Given the description of an element on the screen output the (x, y) to click on. 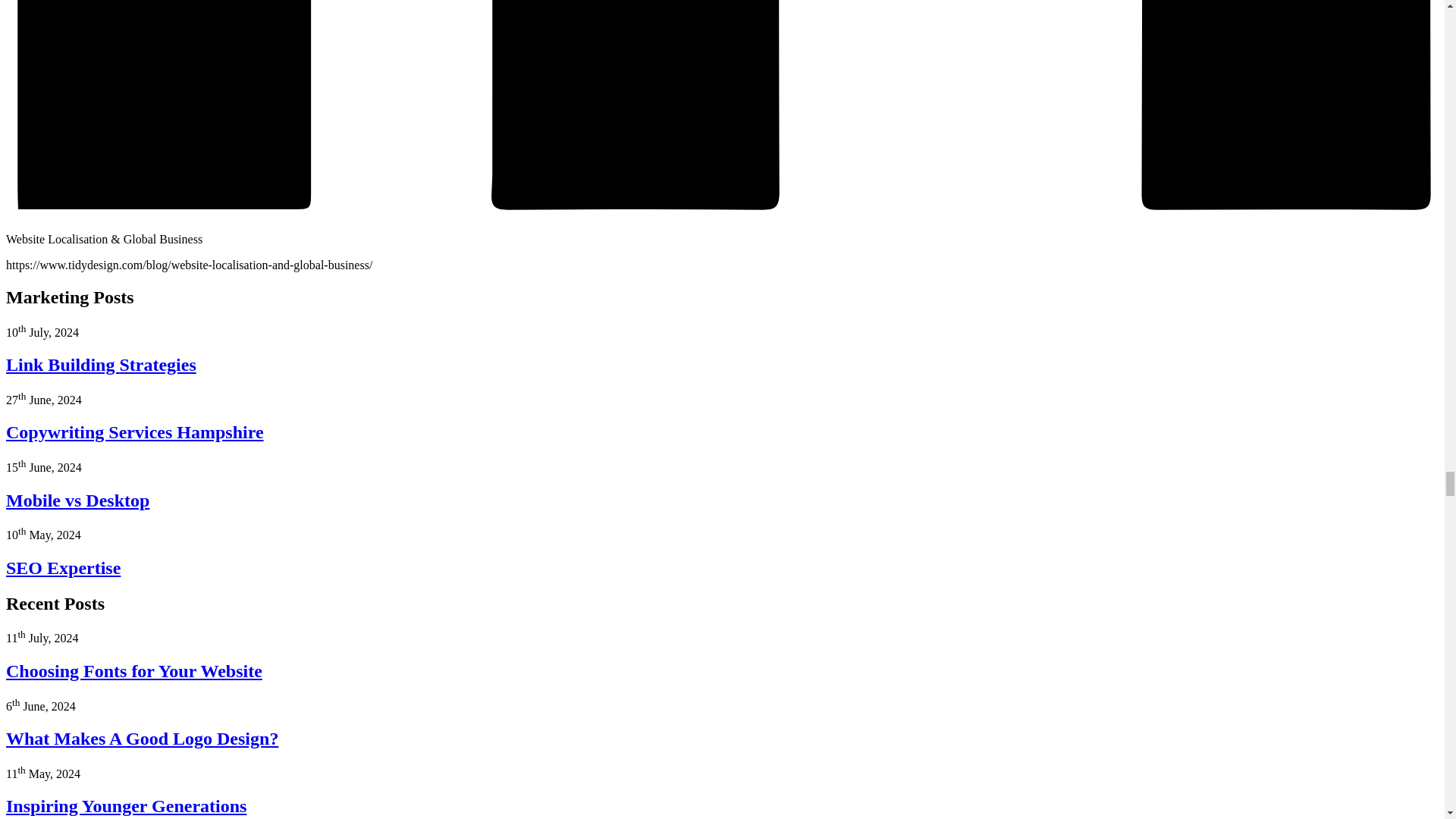
Link Building Strategies (100, 364)
Copywriting Services Hampshire (134, 432)
Mobile vs Desktop (77, 500)
Choosing Fonts for Your Website (133, 670)
SEO Expertise (62, 567)
What Makes A Good Logo Design? (141, 738)
